Given the description of an element on the screen output the (x, y) to click on. 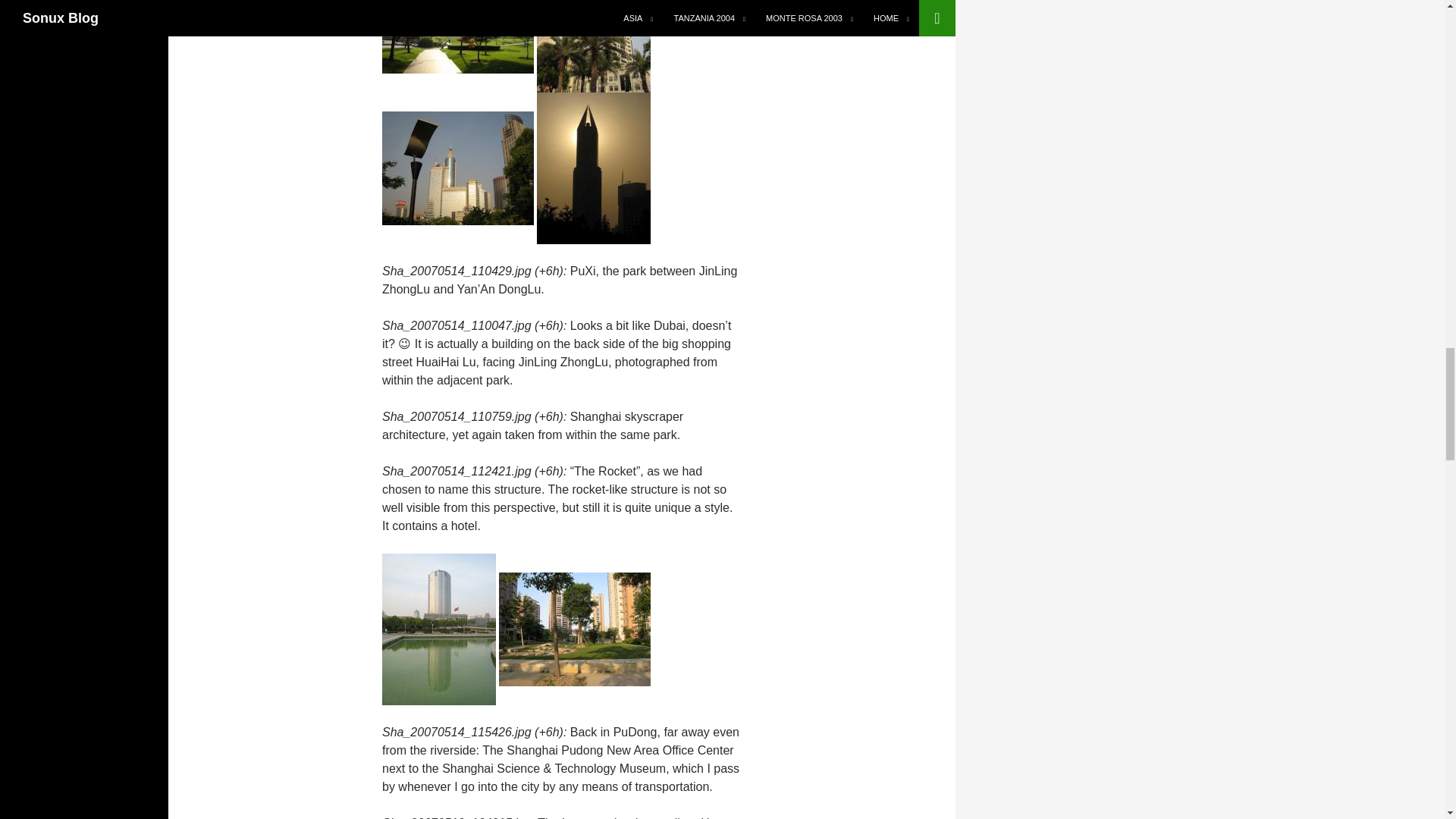
The Rocket (593, 166)
Park Light (457, 166)
Dubai (593, 15)
